Given the description of an element on the screen output the (x, y) to click on. 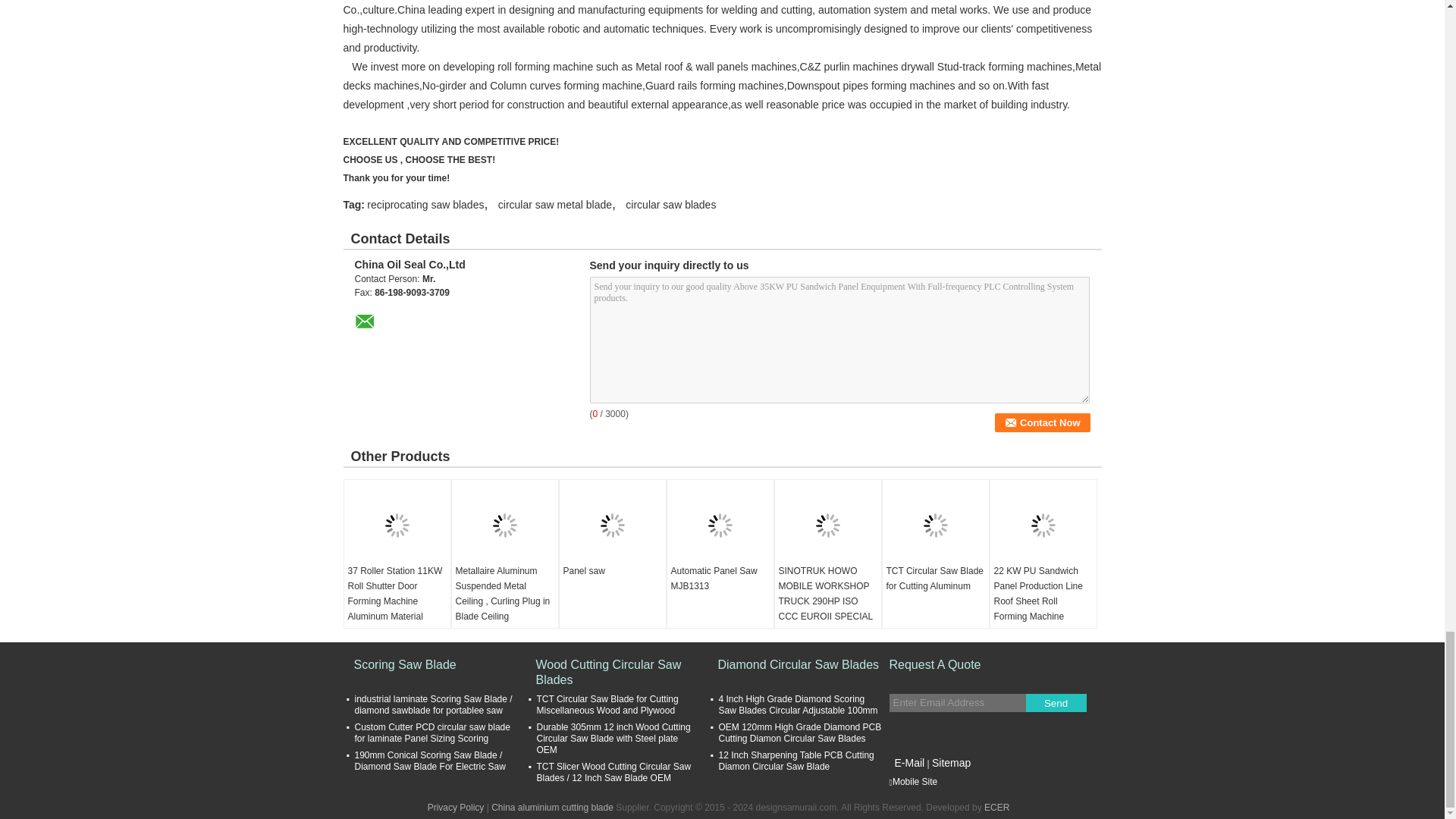
Contact Now (1041, 422)
